Given the description of an element on the screen output the (x, y) to click on. 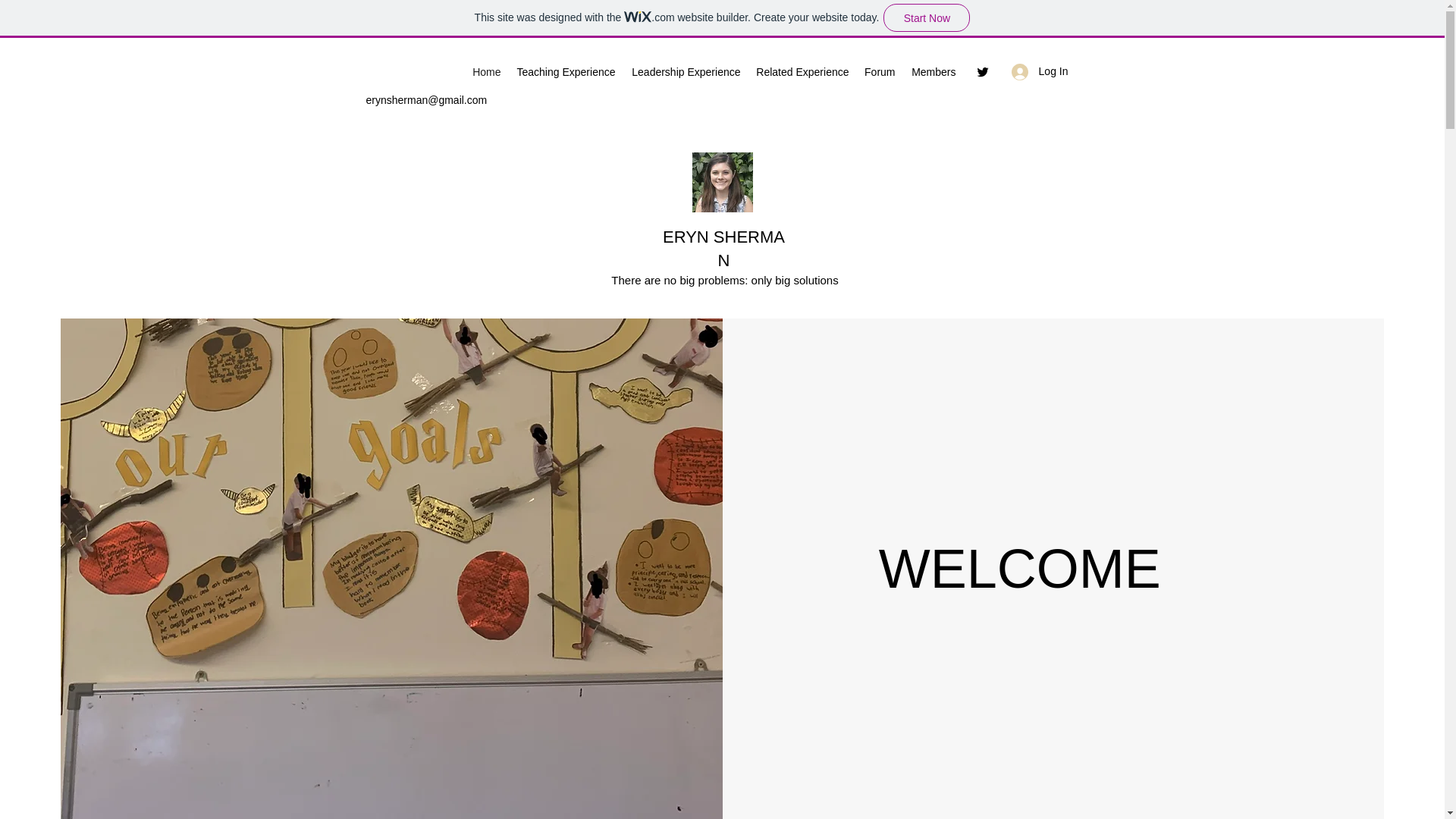
Home (486, 71)
Members (932, 71)
Log In (1039, 71)
Teaching Experience (565, 71)
Leadership Experience (685, 71)
ERYN SHERMAN (723, 248)
Related Experience (802, 71)
Forum (879, 71)
